Given the description of an element on the screen output the (x, y) to click on. 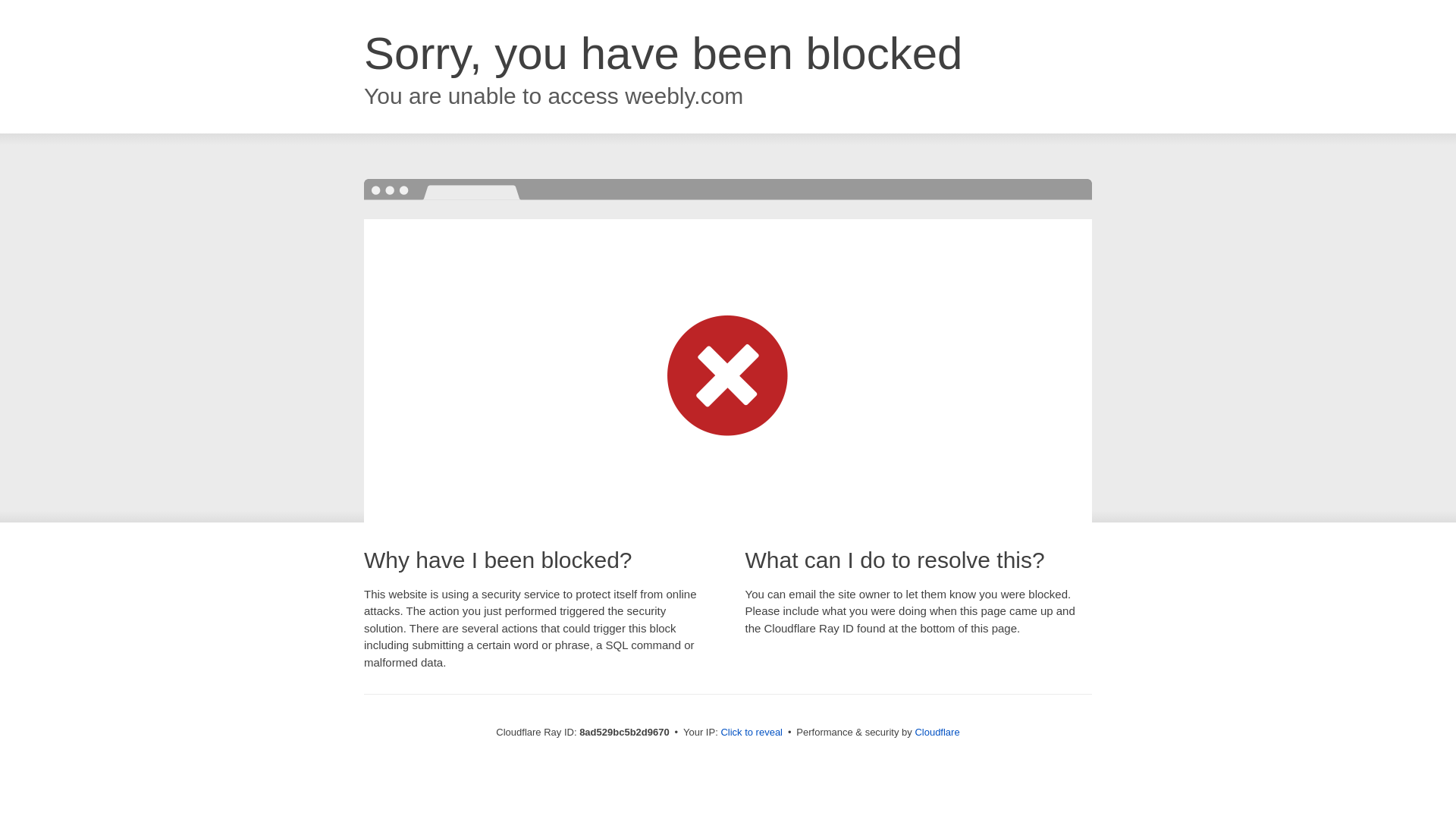
Click to reveal (751, 732)
Cloudflare (936, 731)
